Given the description of an element on the screen output the (x, y) to click on. 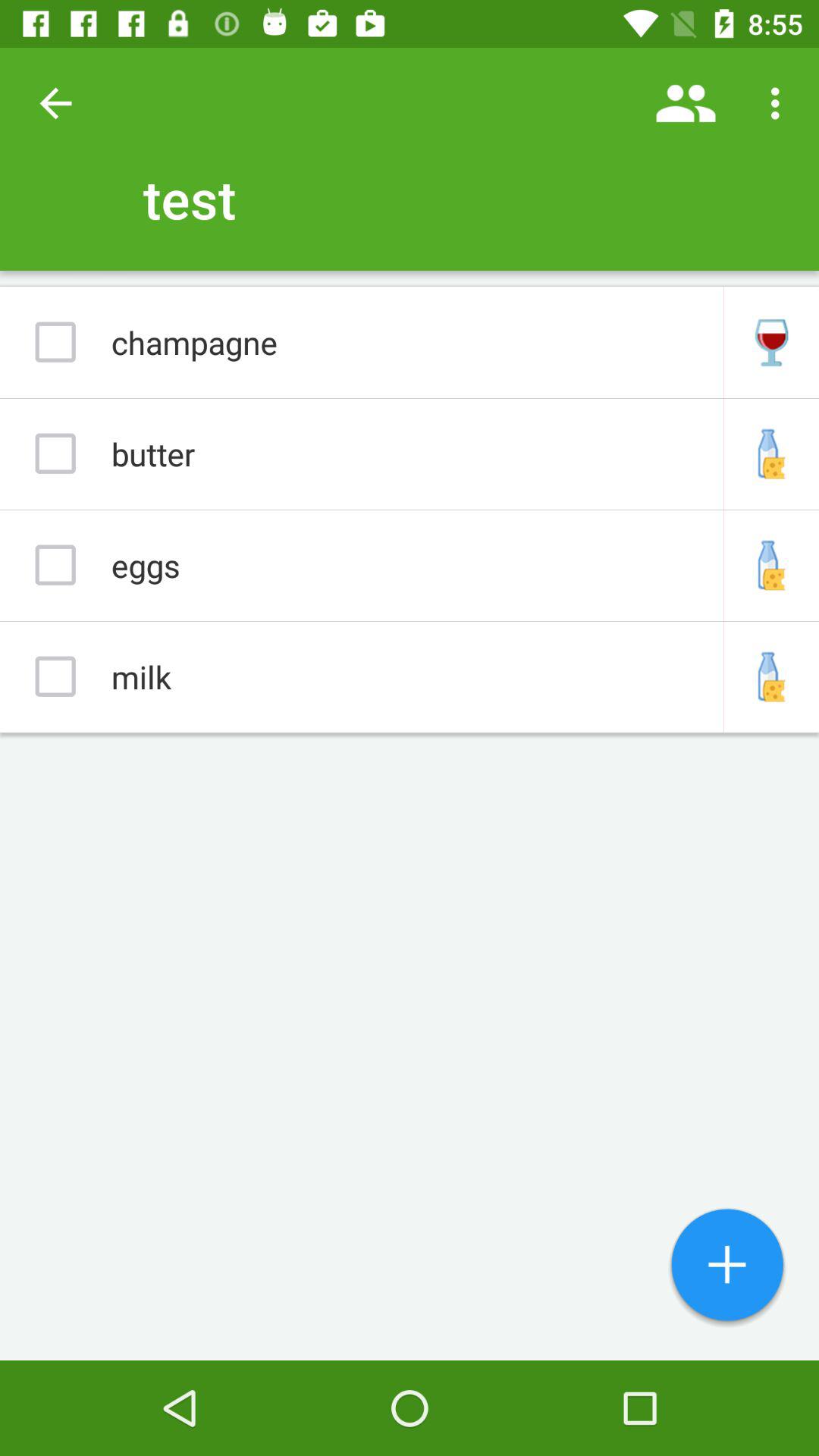
symbol which is on right to champagne (771, 342)
click on the logo beside milk (771, 677)
go to icon right side of eggs option (771, 565)
click on the symbol which is above test (685, 103)
